Given the description of an element on the screen output the (x, y) to click on. 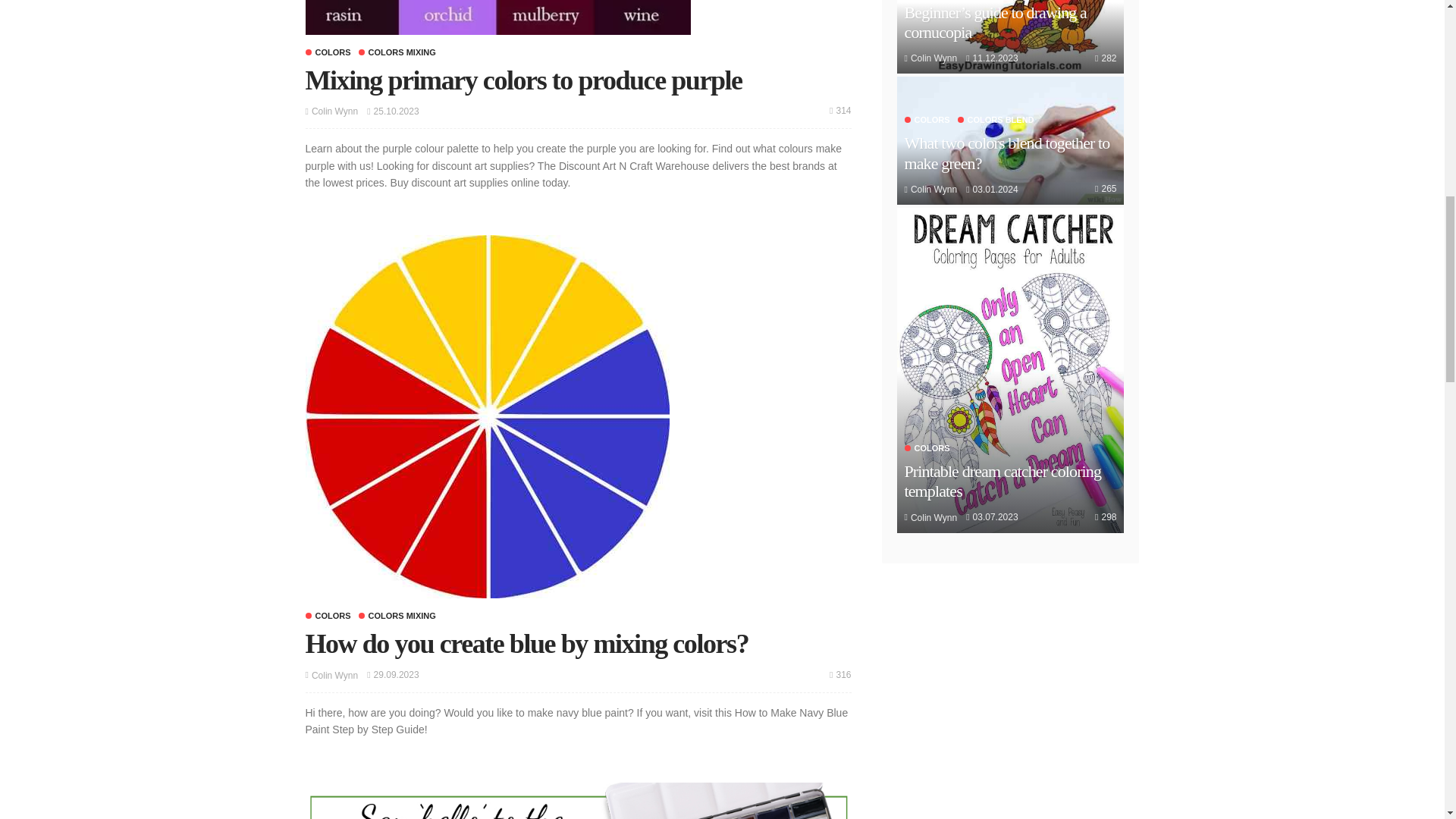
colors (327, 52)
Mixing primary colors to produce purple (497, 17)
colors mixing (396, 52)
